Given the description of an element on the screen output the (x, y) to click on. 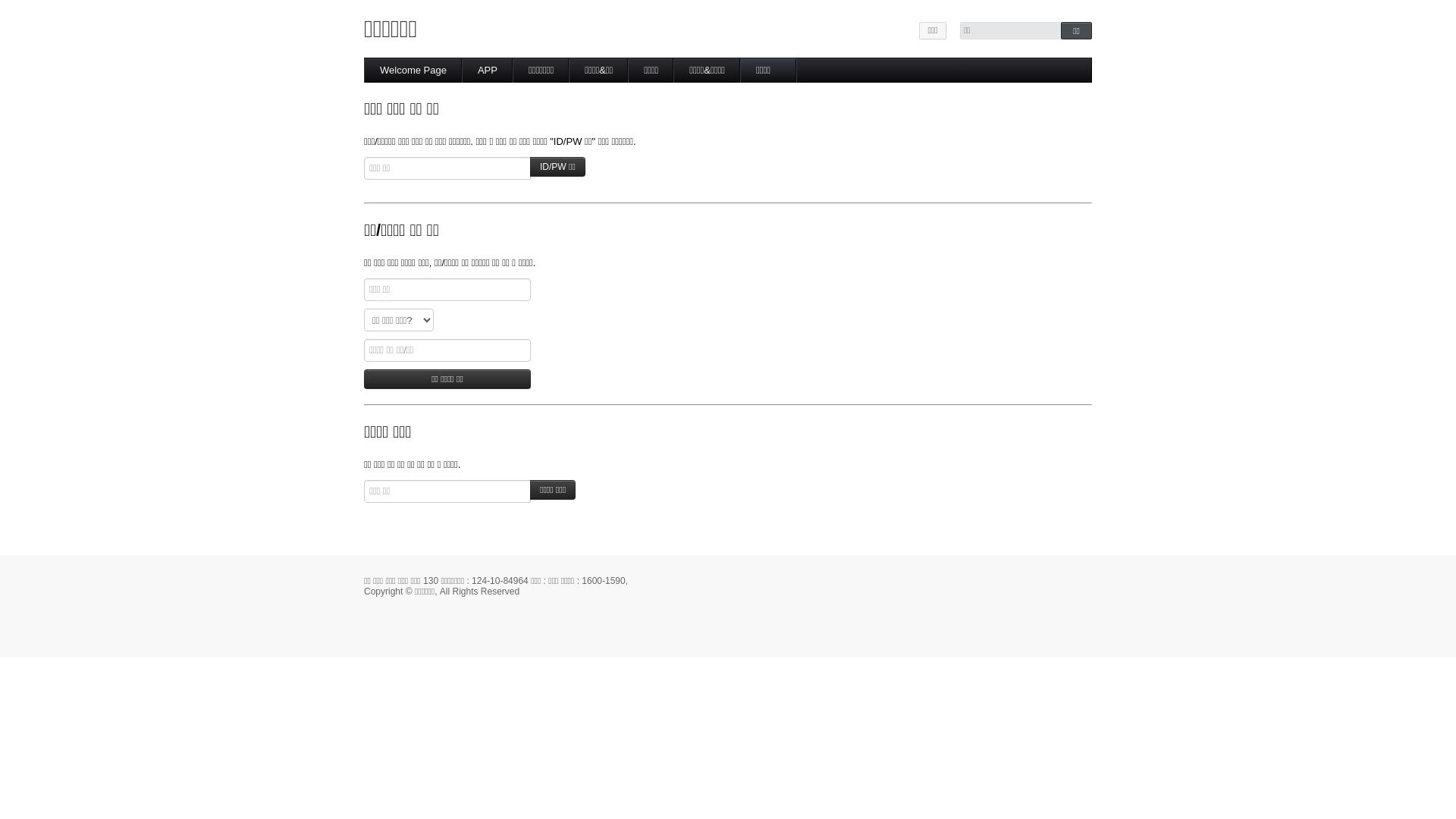
Welcome Page Element type: text (413, 70)
APP Element type: text (487, 70)
